Given the description of an element on the screen output the (x, y) to click on. 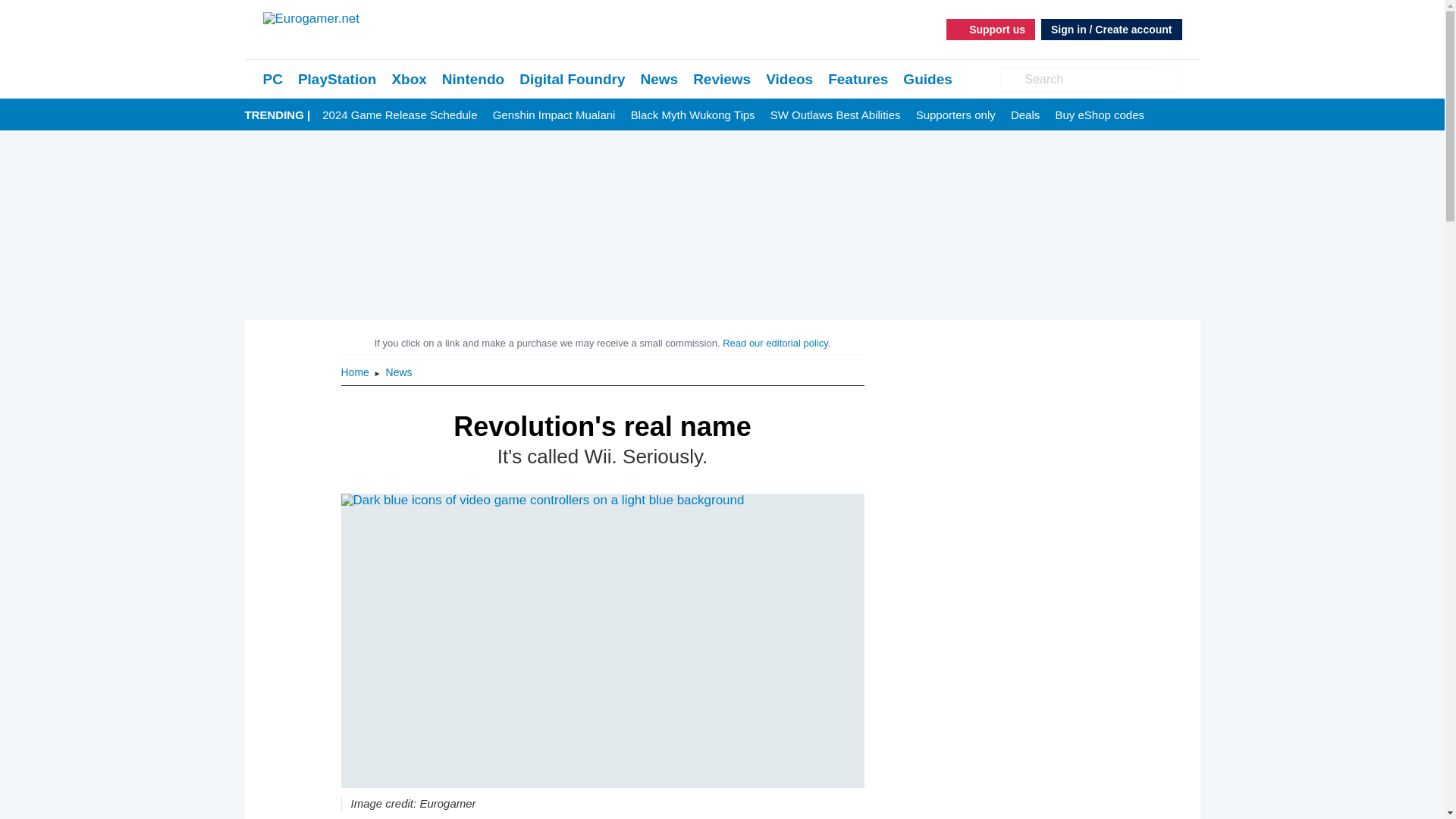
Nintendo (472, 78)
Genshin Impact Mualani (554, 114)
Buy eShop codes (1099, 114)
Digital Foundry (571, 78)
2024 Game Release Schedule (399, 114)
SW Outlaws Best Abilities (835, 114)
2024 Game Release Schedule (399, 114)
Buy eShop codes (1099, 114)
Deals (1024, 114)
Features (858, 78)
